Given the description of an element on the screen output the (x, y) to click on. 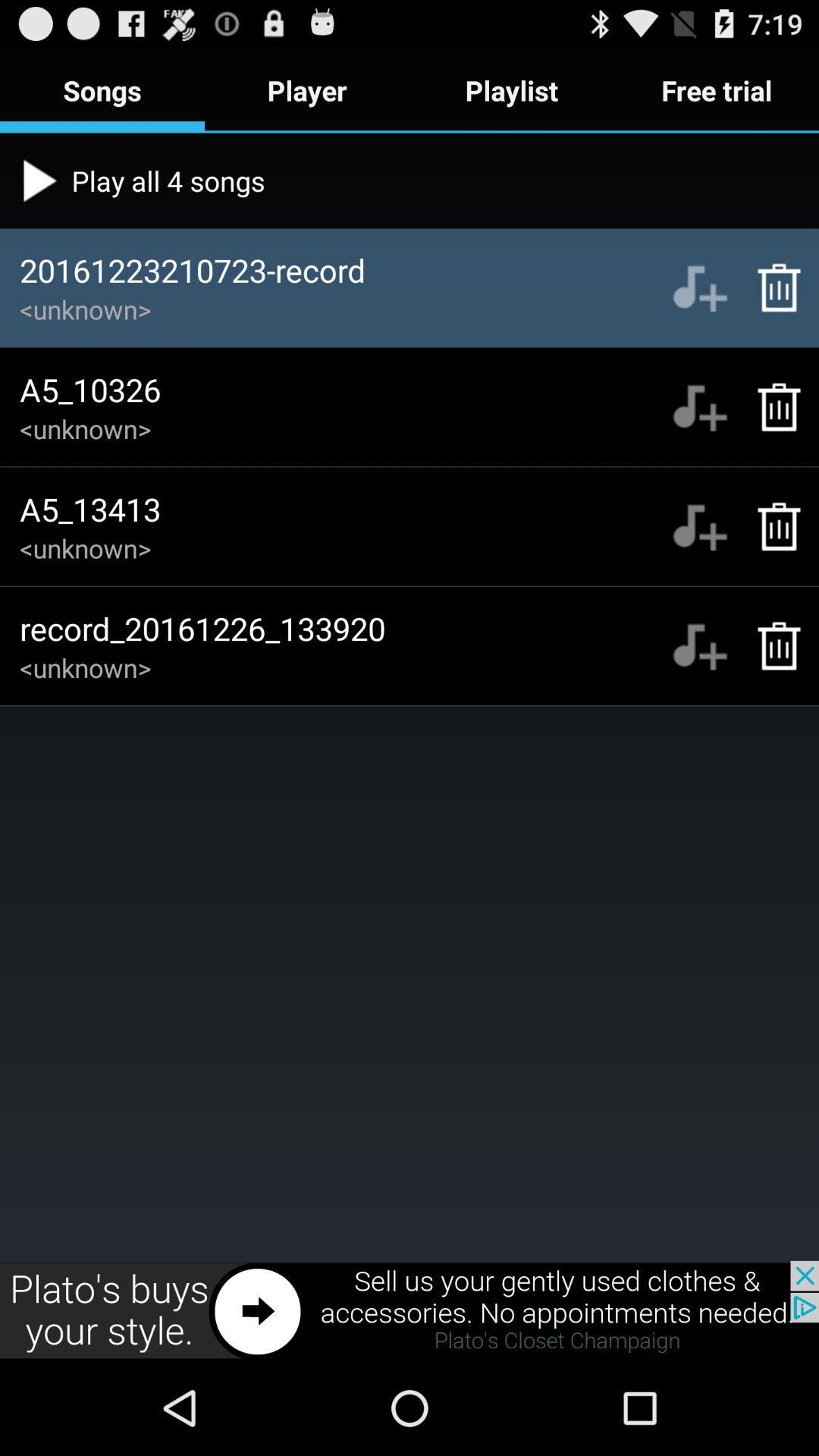
delete this option (771, 526)
